Given the description of an element on the screen output the (x, y) to click on. 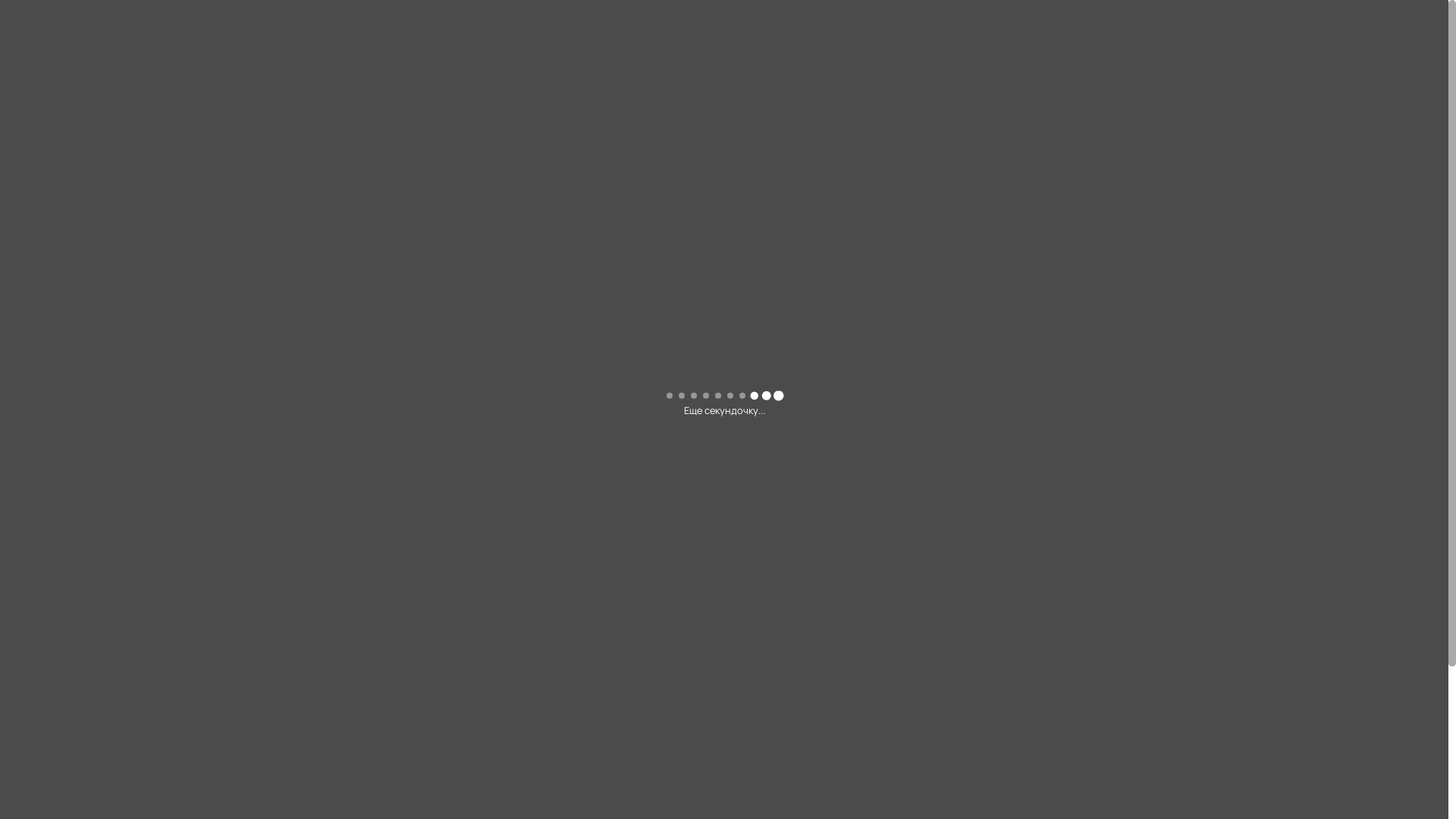
+375 (44) 733-43-86 Element type: text (1118, 277)
polakr@tut.by Element type: text (1196, 39)
polakr@tut.by Element type: text (1028, 328)
+375 (44) 733-43-86 Element type: text (1217, 20)
